Given the description of an element on the screen output the (x, y) to click on. 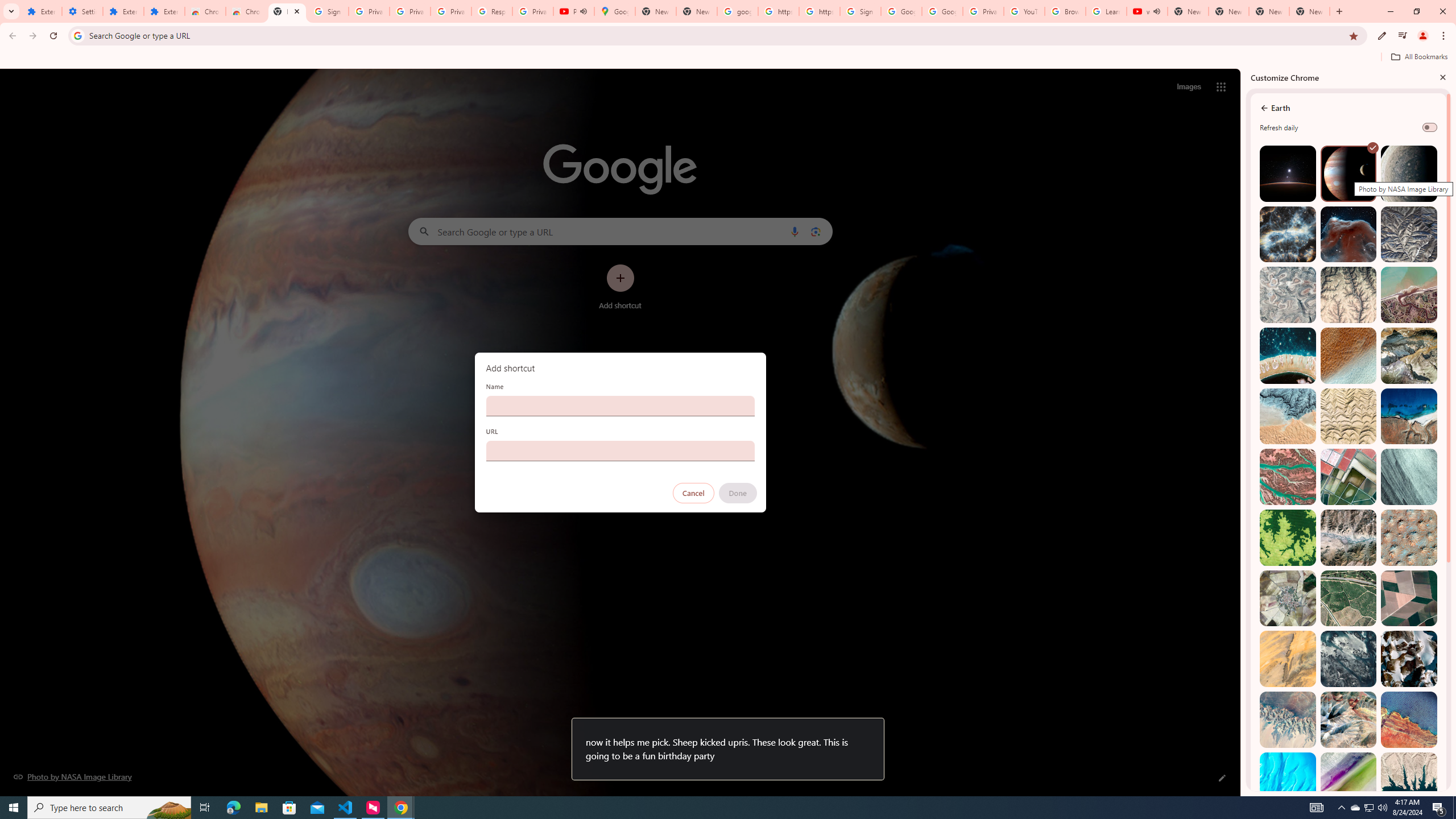
Personalized AI for you | Gemini - YouTube - Audio playing (573, 11)
Zermatt, Wallis, Switzerland (1408, 355)
Davis County, United States (1348, 780)
Utrera, Spain (1408, 598)
New Tab (1309, 11)
Ouargla, Algeria (1408, 537)
Al Jabal al Akhdar, Libya (1408, 416)
Side Panel Resize Handle (1242, 431)
Isla Cristina, Spain (1348, 598)
